Given the description of an element on the screen output the (x, y) to click on. 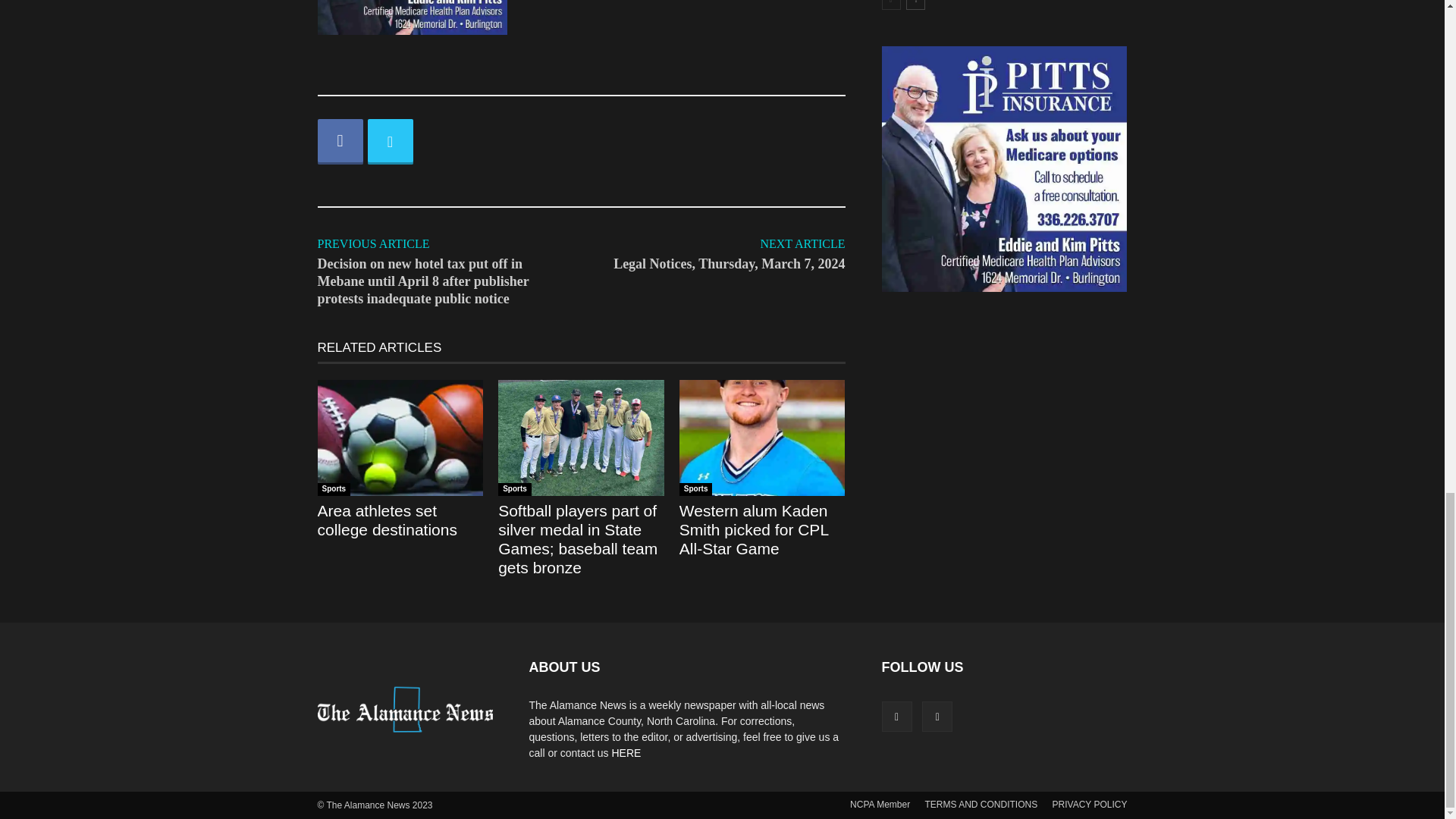
Facebook (339, 141)
Twitter (389, 141)
